Given the description of an element on the screen output the (x, y) to click on. 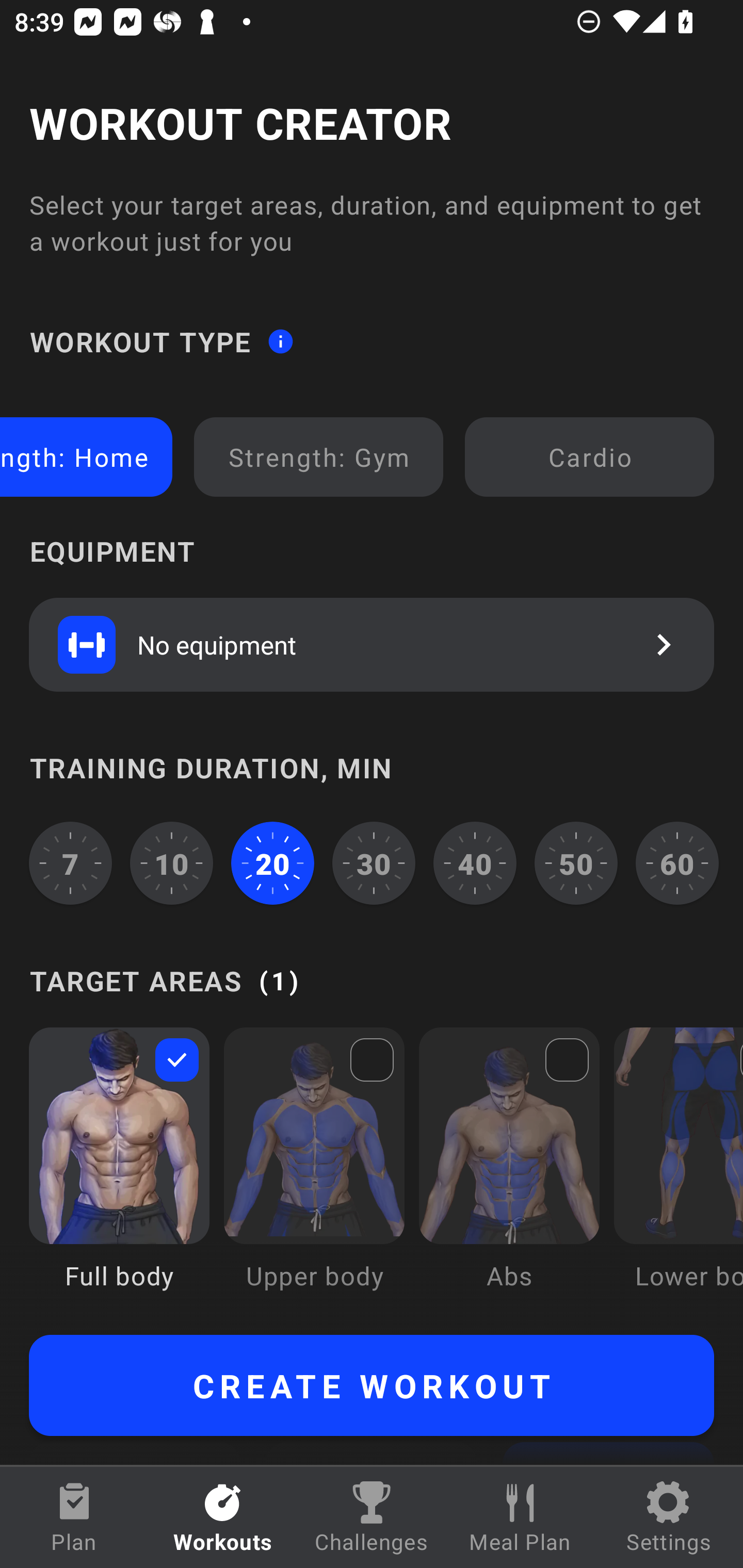
Workout type information button (280, 340)
Strength: Gym (318, 457)
Cardio (588, 457)
No equipment (371, 644)
7 (70, 862)
10 (171, 862)
20 (272, 862)
30 (373, 862)
40 (474, 862)
50 (575, 862)
60 (676, 862)
Upper body (313, 1172)
Abs (509, 1172)
Lower body (678, 1172)
CREATE WORKOUT (371, 1385)
 Plan  (74, 1517)
 Challenges  (371, 1517)
 Meal Plan  (519, 1517)
 Settings  (668, 1517)
